Given the description of an element on the screen output the (x, y) to click on. 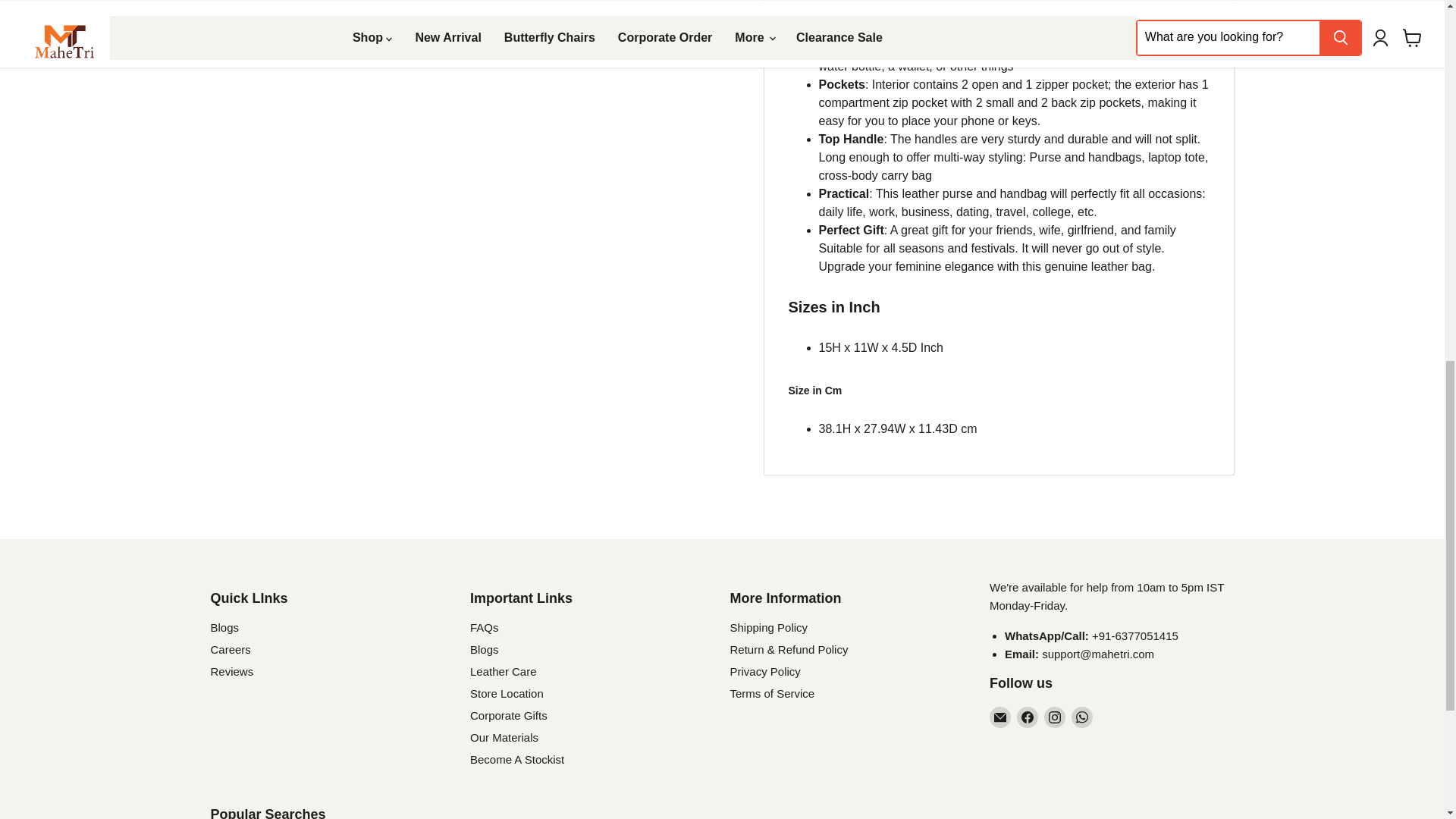
WhatsApp (1082, 717)
Facebook (1027, 717)
Instagram (1054, 717)
Email (1000, 717)
